Given the description of an element on the screen output the (x, y) to click on. 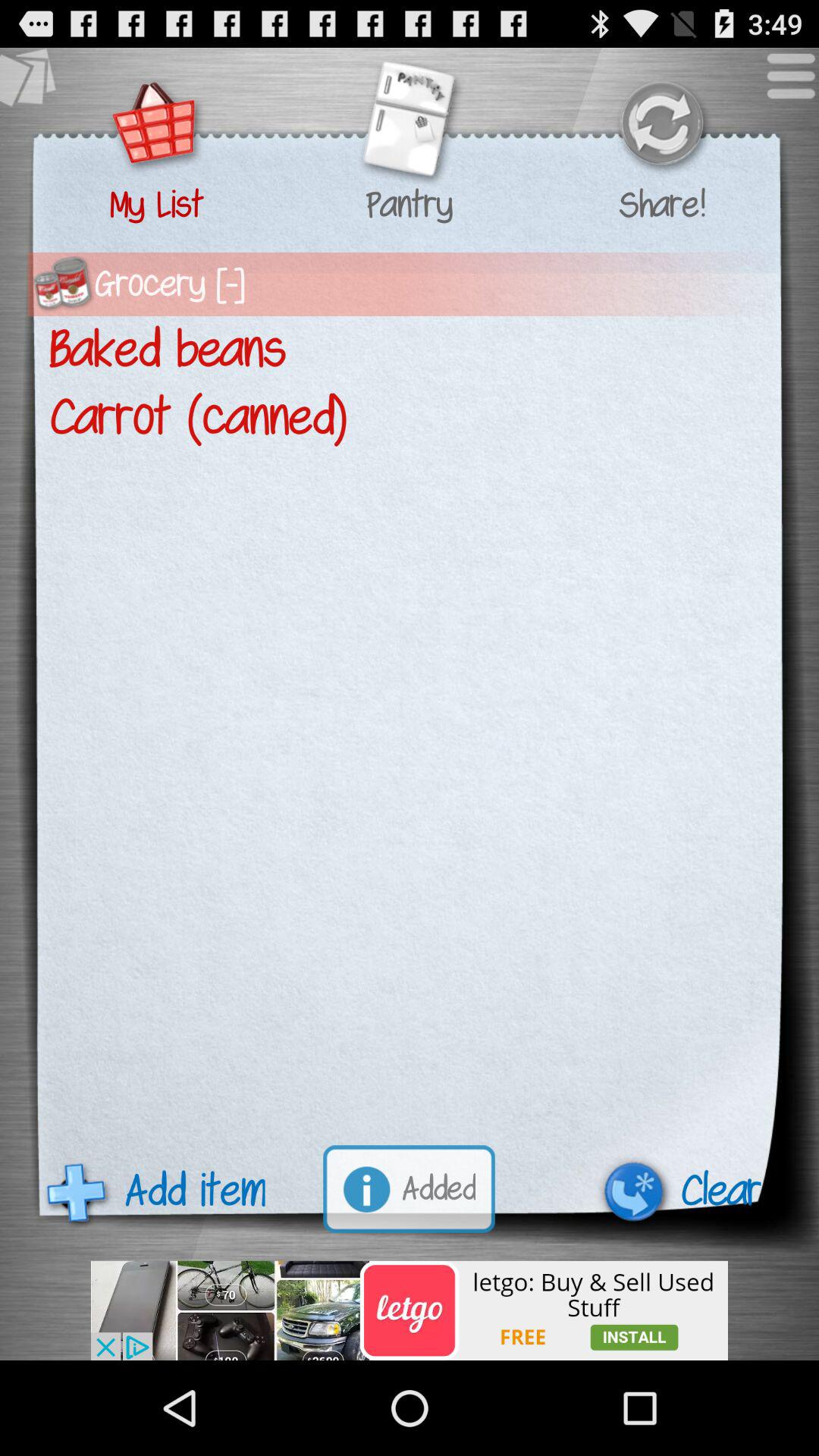
open pantry list (408, 125)
